Given the description of an element on the screen output the (x, y) to click on. 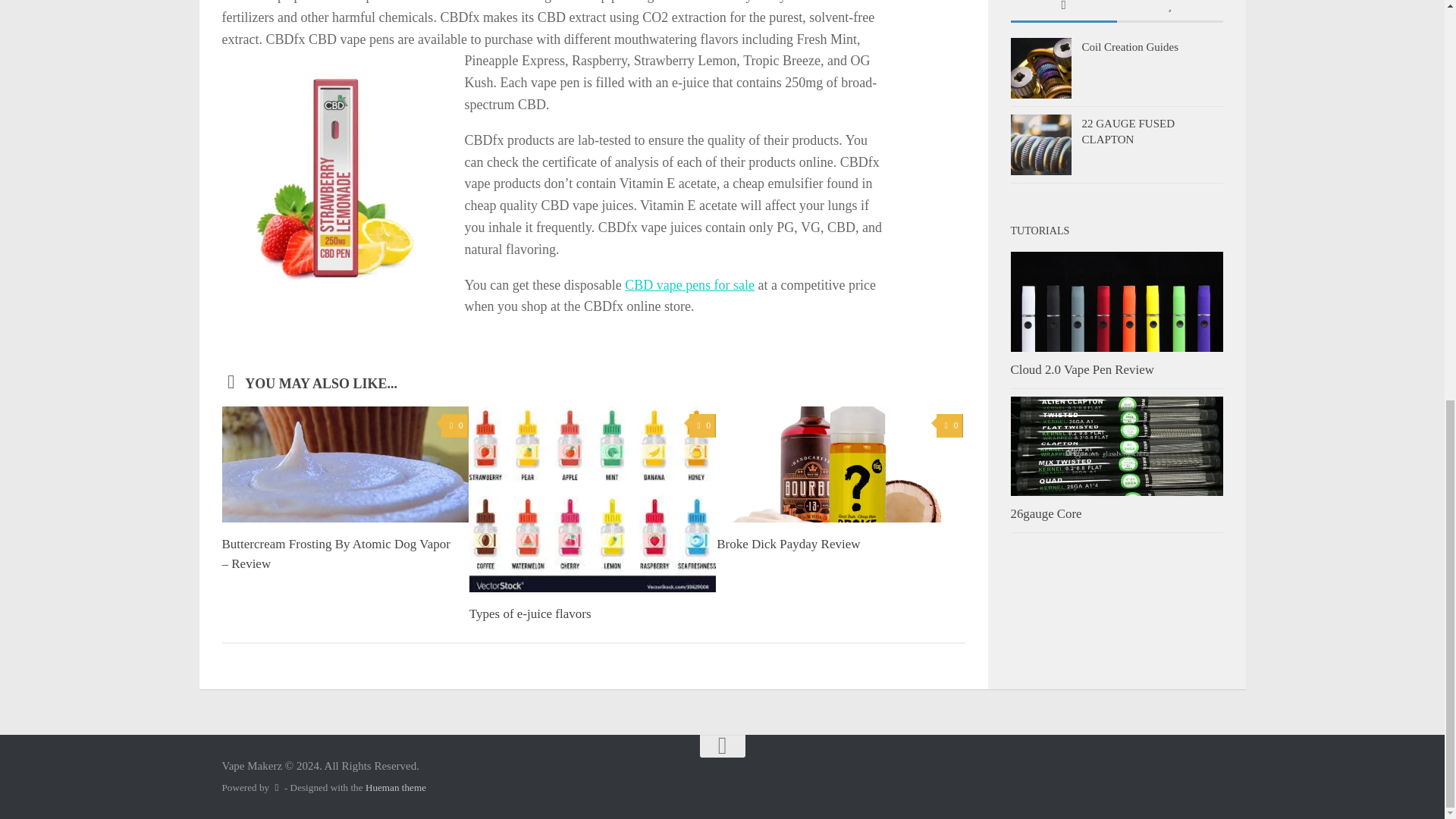
0 (454, 425)
0 (702, 425)
CBD vape pens for sale (689, 284)
Recent Posts (1063, 11)
0 (949, 425)
Types of e-juice flavors (529, 613)
Broke Dick Payday Review (788, 544)
Hueman theme (395, 787)
Powered by WordPress (275, 787)
Popular Posts (1169, 11)
